Given the description of an element on the screen output the (x, y) to click on. 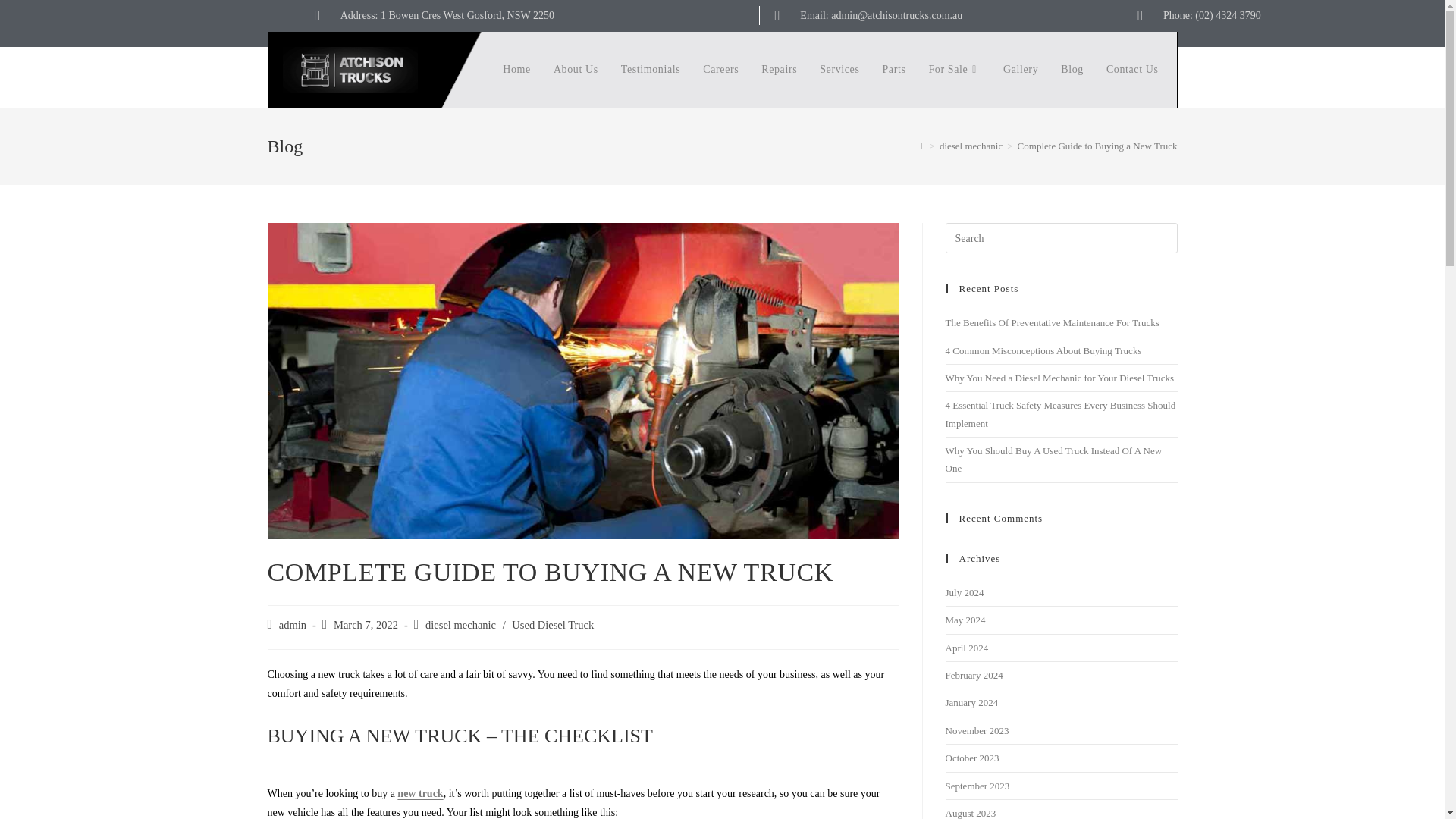
Services (839, 69)
Contact Us (1132, 69)
Repairs (778, 69)
Posts by admin (292, 624)
For Sale (954, 69)
Home (516, 69)
Gallery (1020, 69)
Address: 1 Bowen Cres West Gosford, NSW 2250 (529, 15)
About Us (575, 69)
Testimonials (651, 69)
